Given the description of an element on the screen output the (x, y) to click on. 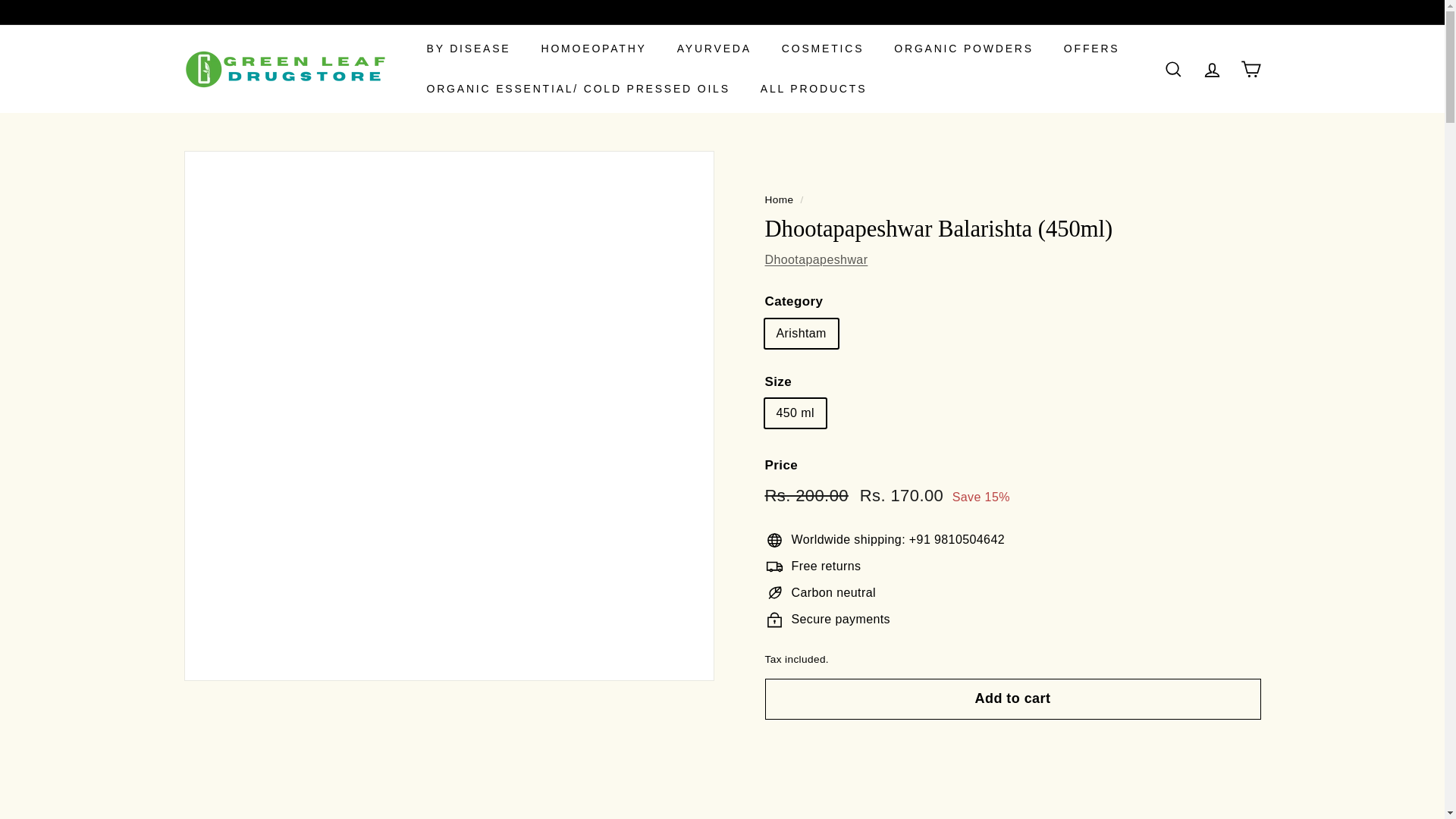
AYURVEDA (714, 48)
Back to the frontpage (778, 199)
BY DISEASE (467, 48)
HOMOEOPATHY (593, 48)
